Given the description of an element on the screen output the (x, y) to click on. 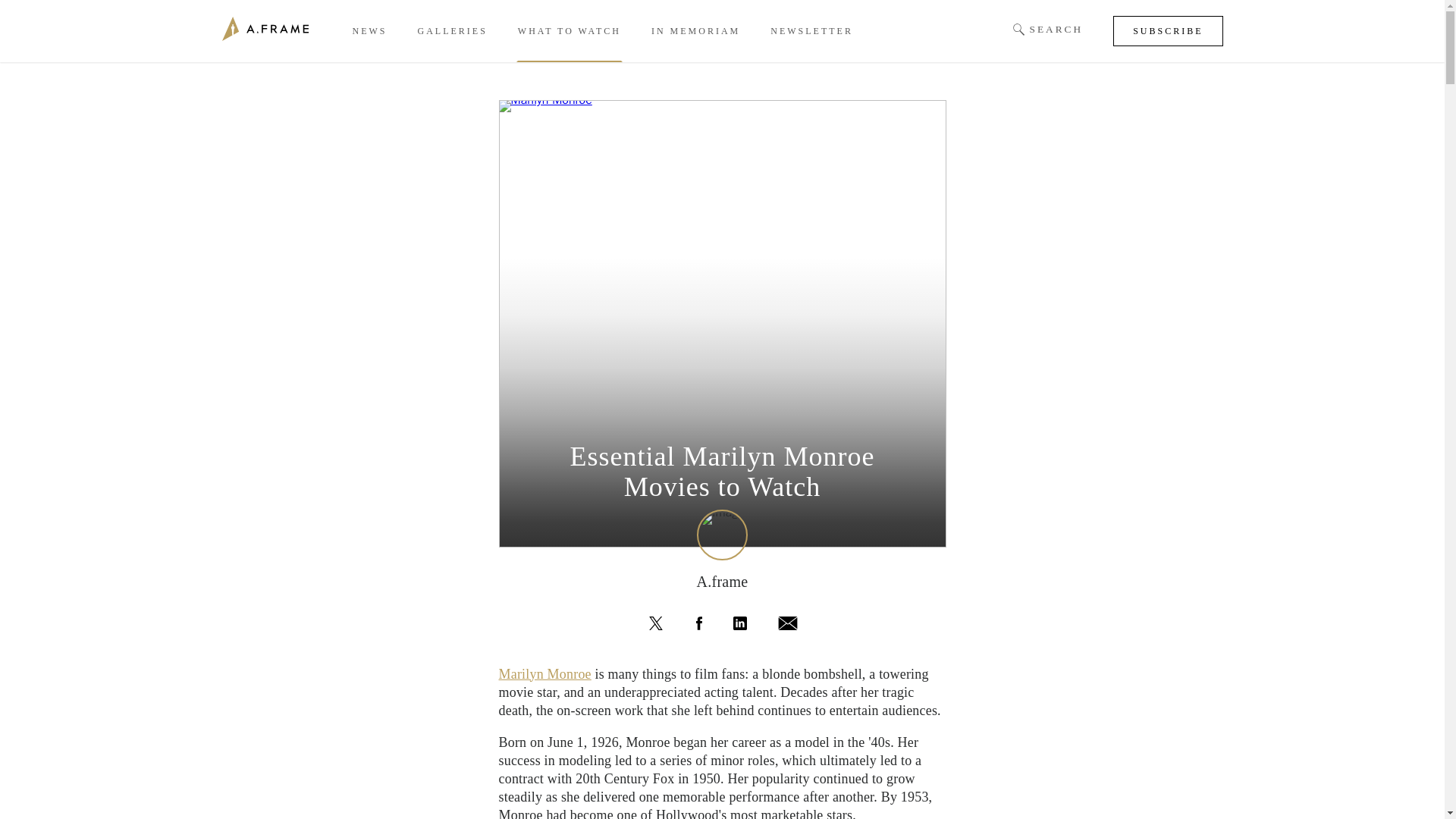
GALLERIES (450, 31)
IN MEMORIAM (695, 31)
Marilyn Monroe (545, 673)
SUBSCRIBE (1168, 30)
Share on Facebook (698, 622)
SEARCH (1048, 30)
WHAT TO WATCH (569, 31)
NEWSLETTER (811, 31)
NEWS (369, 31)
